Given the description of an element on the screen output the (x, y) to click on. 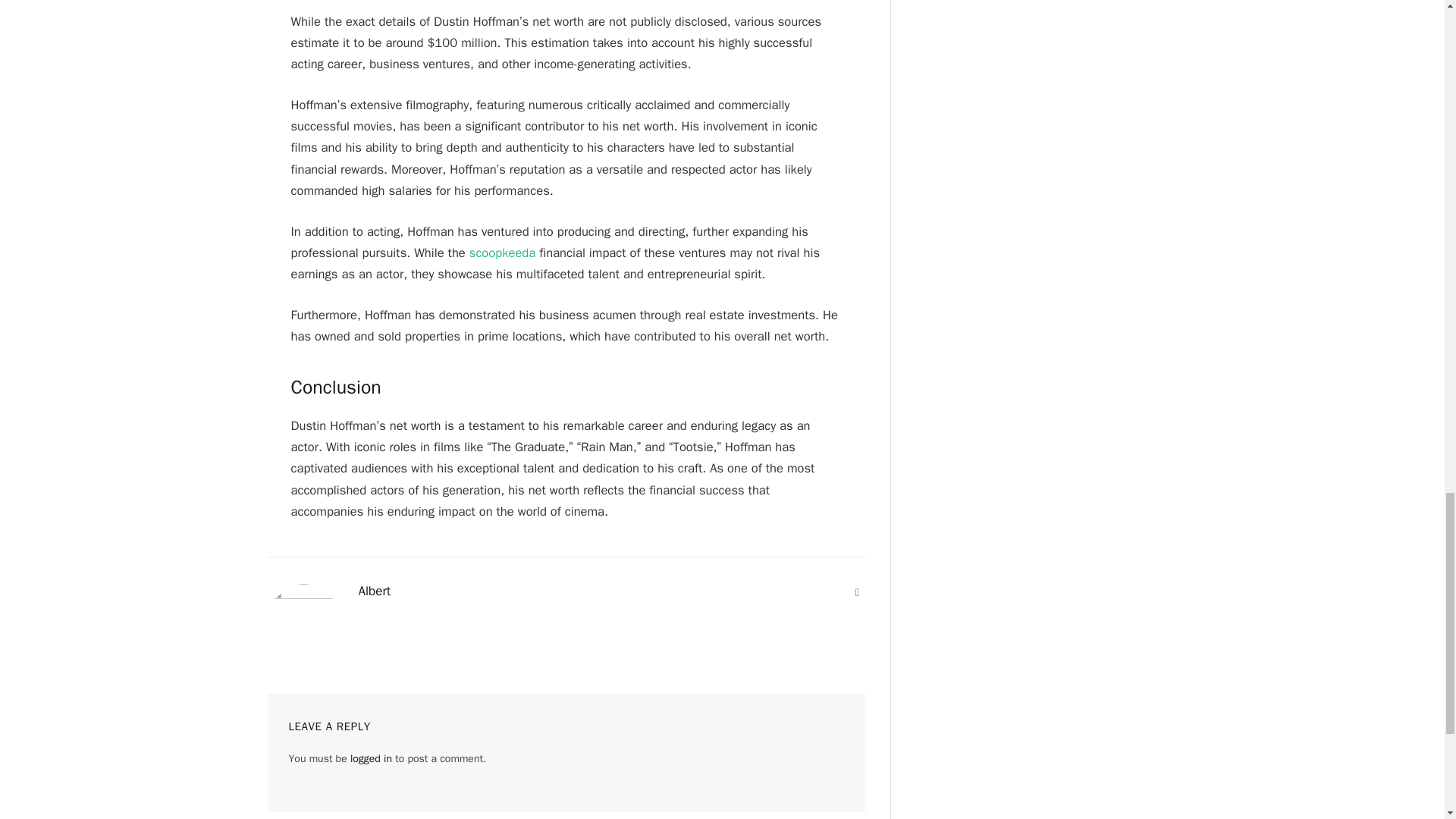
Albert (374, 590)
Posts by Albert (374, 590)
Website (856, 592)
Website (856, 592)
logged in (370, 758)
scoopkeeda (501, 252)
